Given the description of an element on the screen output the (x, y) to click on. 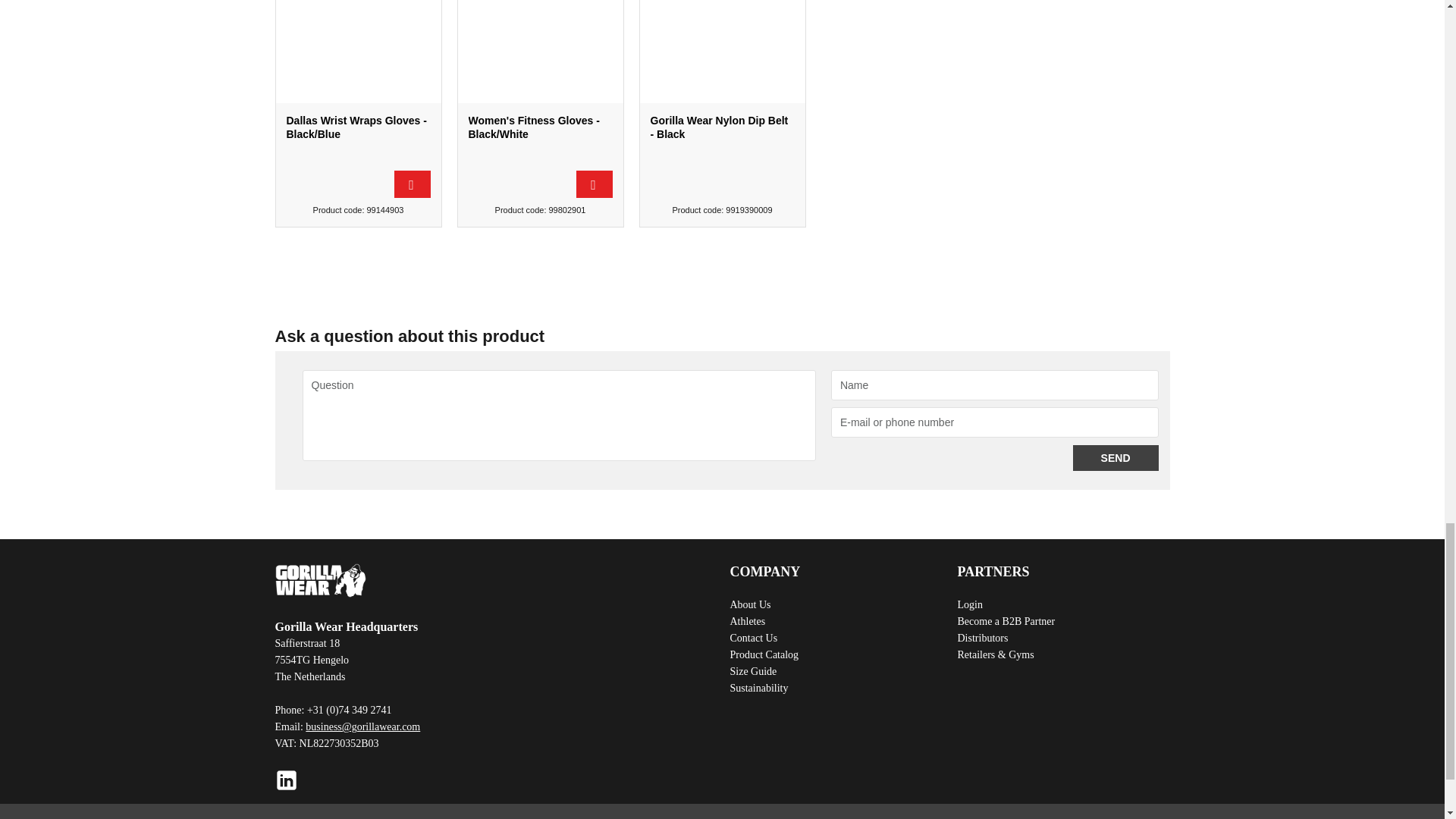
Send (1115, 457)
